Given the description of an element on the screen output the (x, y) to click on. 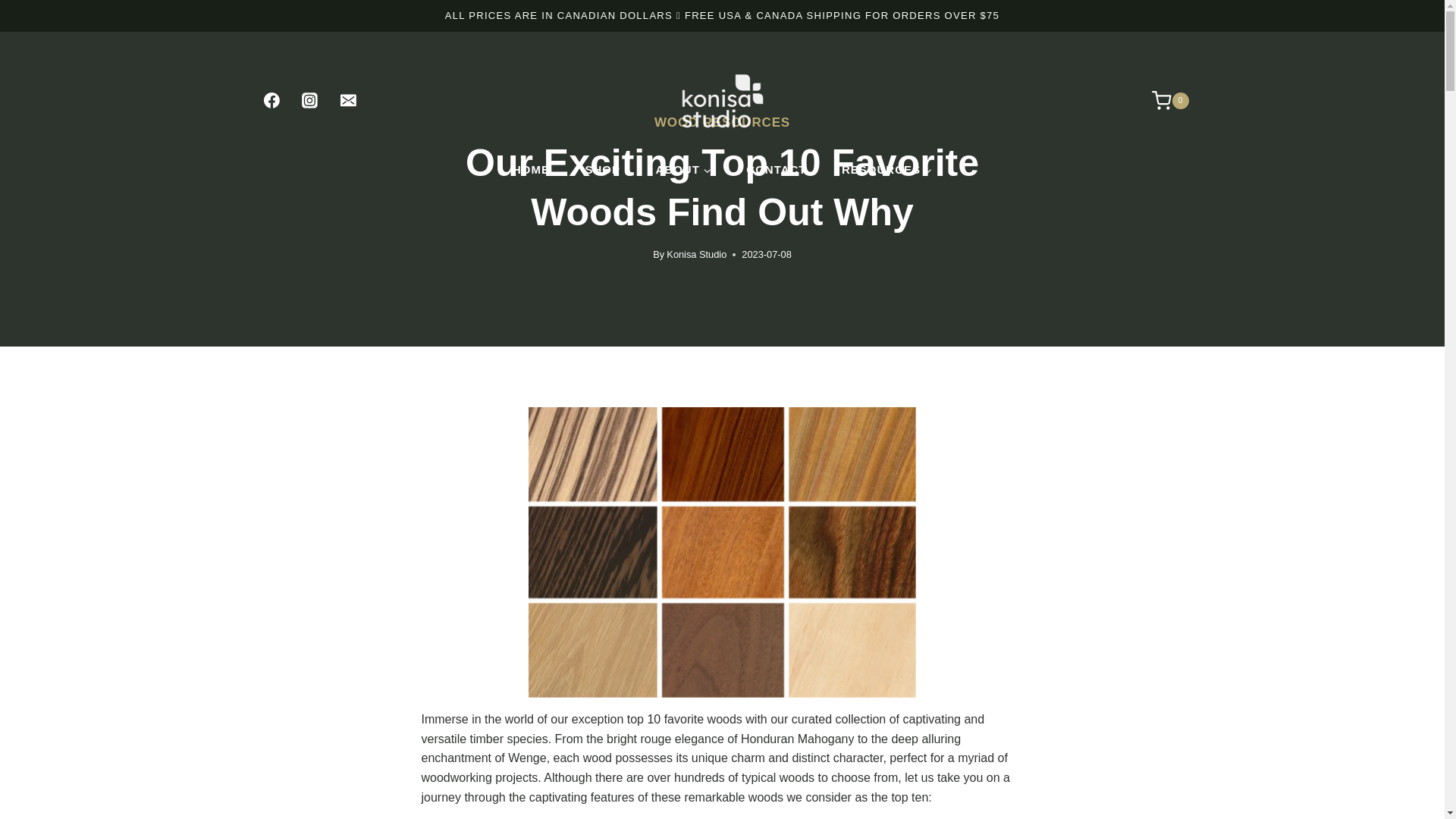
RESOURCES (887, 169)
0 (1162, 100)
WOOD RESOURCES (721, 122)
ABOUT (683, 169)
Konisa Studio (696, 254)
SHOP (602, 169)
CONTACT (776, 169)
HOME (531, 169)
